Given the description of an element on the screen output the (x, y) to click on. 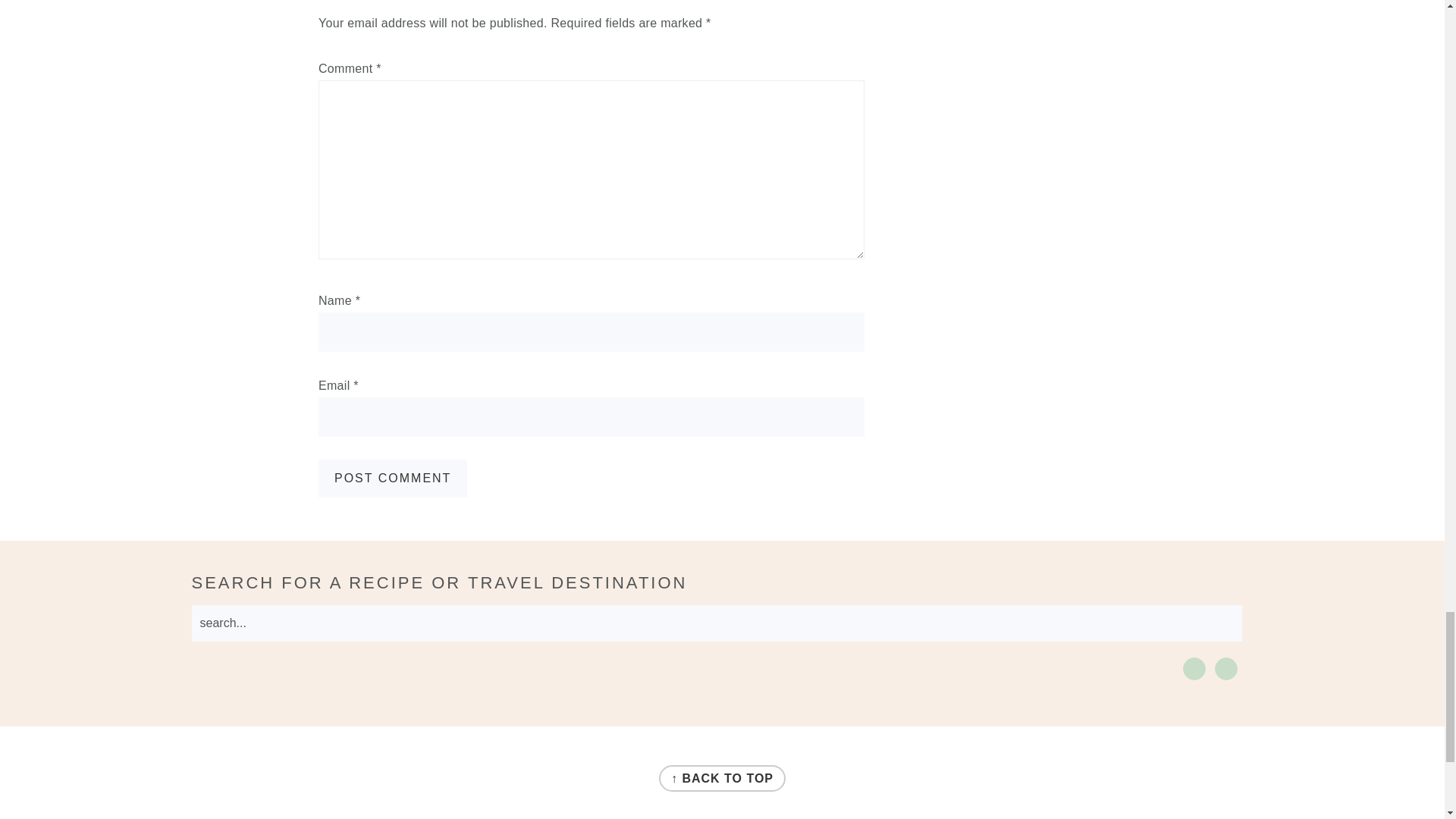
Post Comment (392, 478)
Post Comment (392, 478)
